Given the description of an element on the screen output the (x, y) to click on. 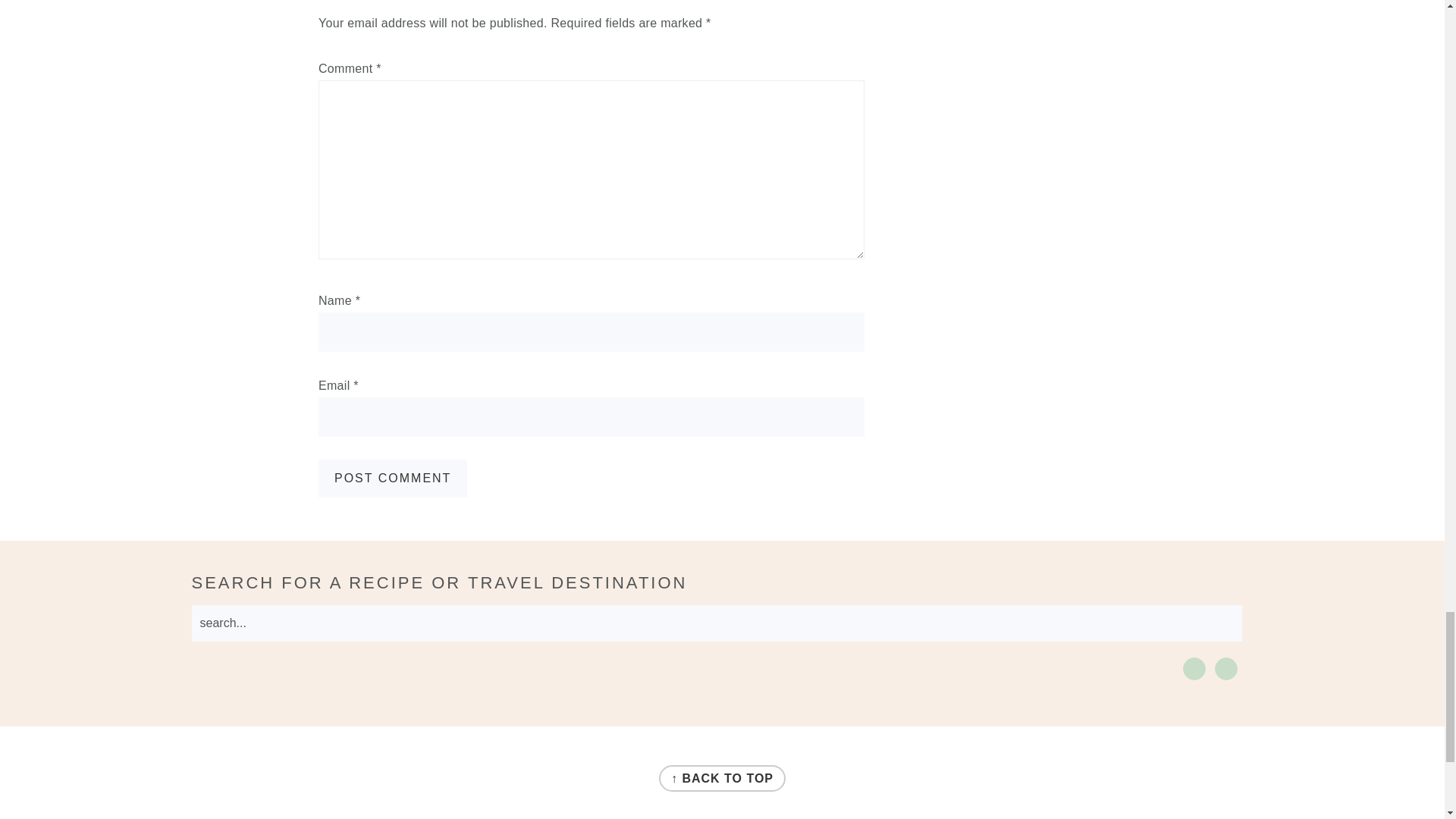
Post Comment (392, 478)
Post Comment (392, 478)
